Given the description of an element on the screen output the (x, y) to click on. 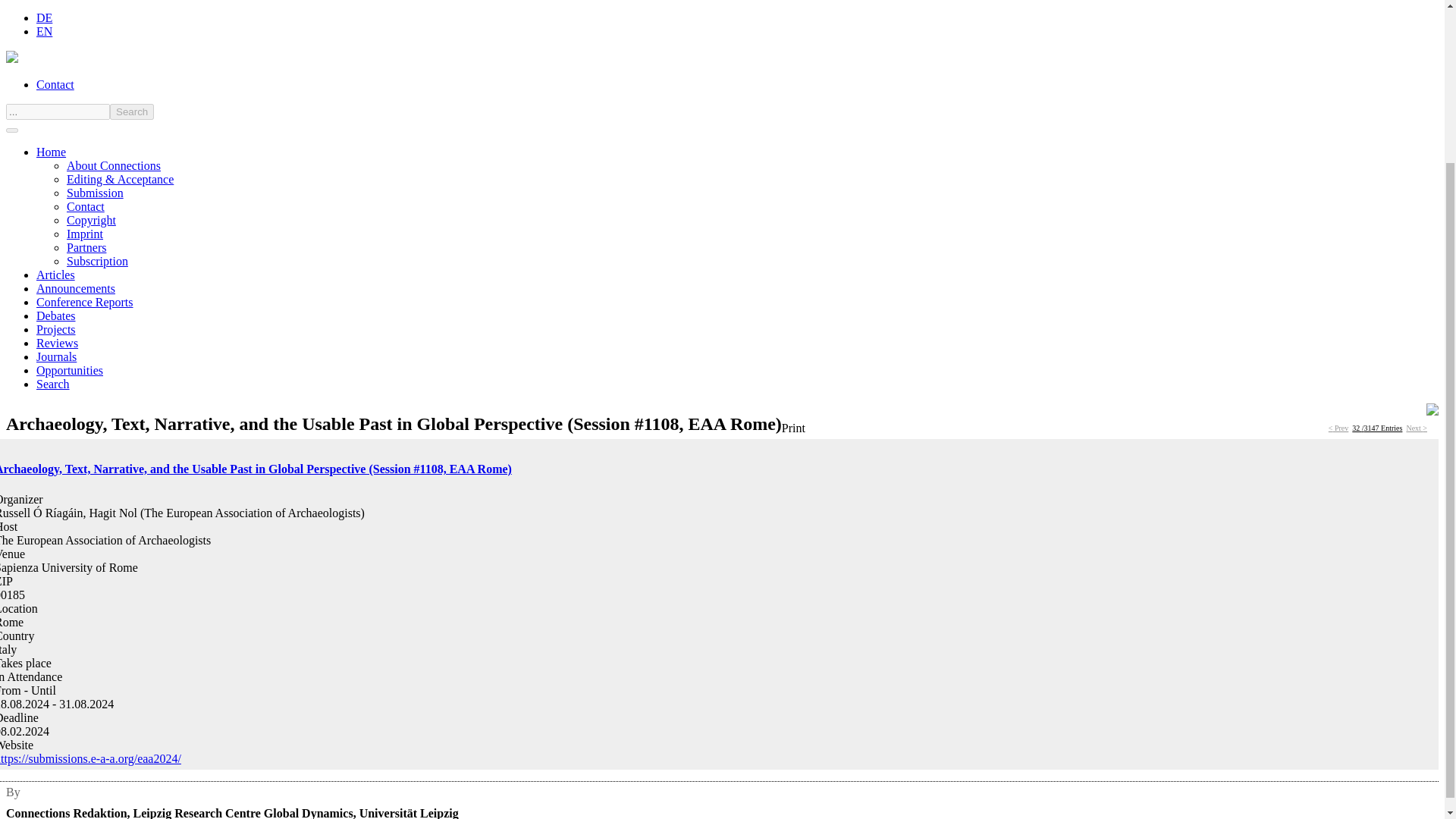
Journals (56, 356)
Contact (85, 205)
Reviews (57, 342)
Debates (55, 315)
Home (50, 151)
Projects (55, 328)
Opportunities (69, 369)
Copyright (91, 219)
Articles (55, 274)
Search (132, 111)
About Connections (113, 164)
Announcements (75, 287)
Partners (86, 246)
Imprint (84, 233)
Subscription (97, 260)
